Given the description of an element on the screen output the (x, y) to click on. 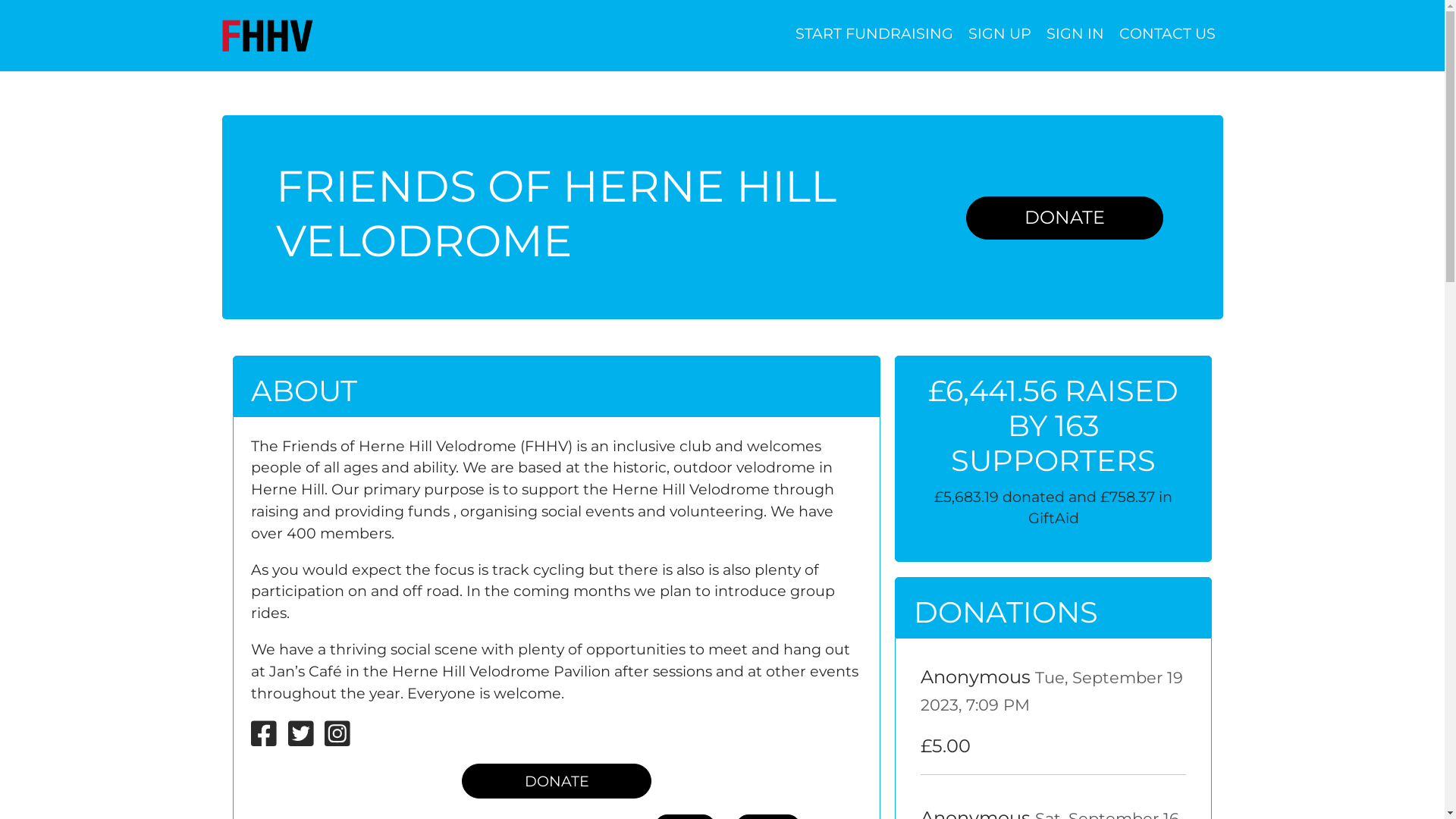
CONTACT US Element type: text (1167, 35)
SIGN UP Element type: text (999, 35)
START FUNDRAISING Element type: text (873, 35)
DONATE Element type: text (556, 780)
SIGN IN Element type: text (1074, 35)
DONATE Element type: text (1064, 217)
